Given the description of an element on the screen output the (x, y) to click on. 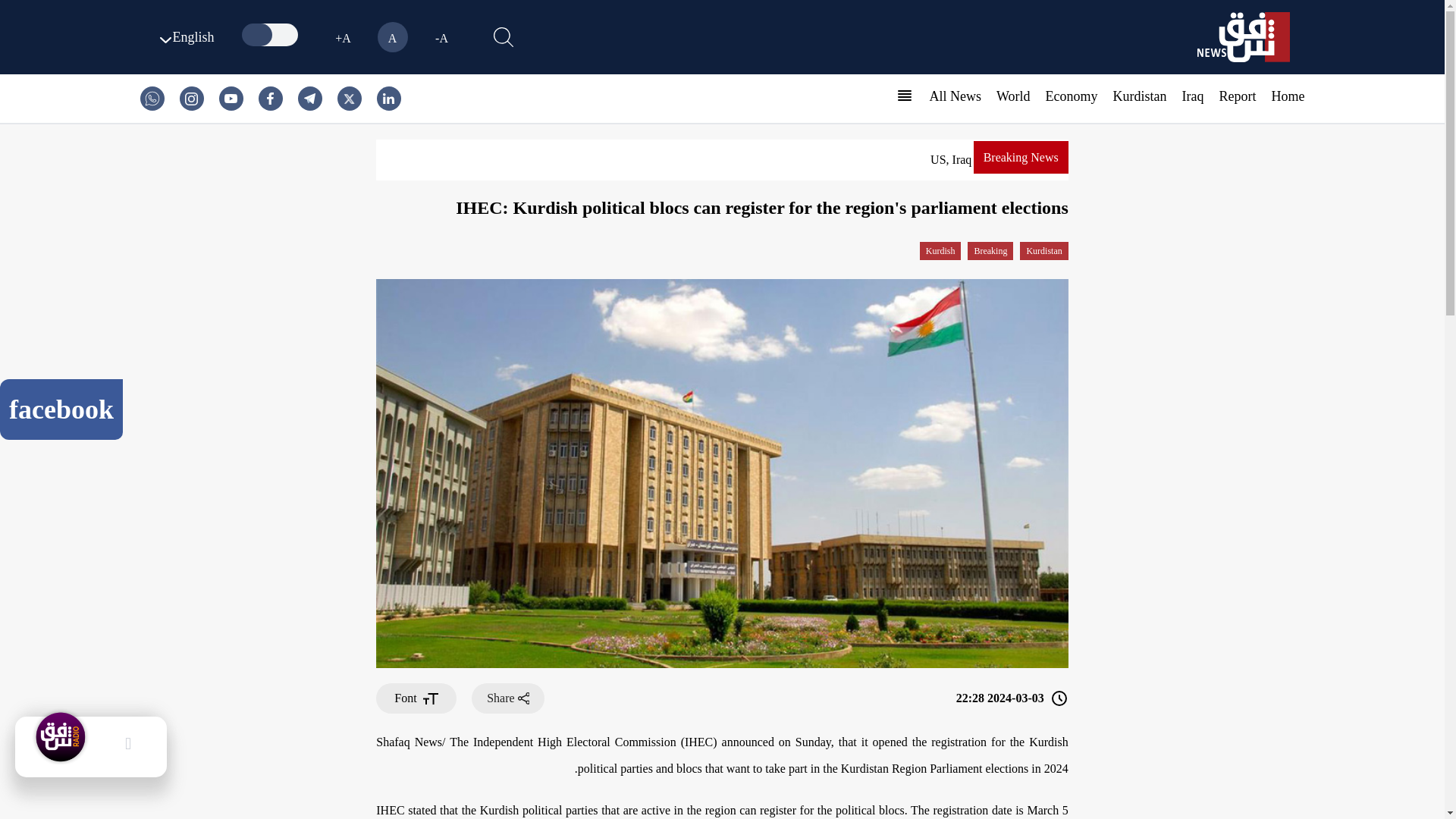
World (1012, 96)
A- (441, 37)
All News (954, 96)
English (184, 37)
Iraq (1193, 96)
Home (1287, 96)
Report (1238, 96)
Kurdistan (1140, 96)
on (271, 34)
Economy (1071, 96)
A (392, 37)
